Given the description of an element on the screen output the (x, y) to click on. 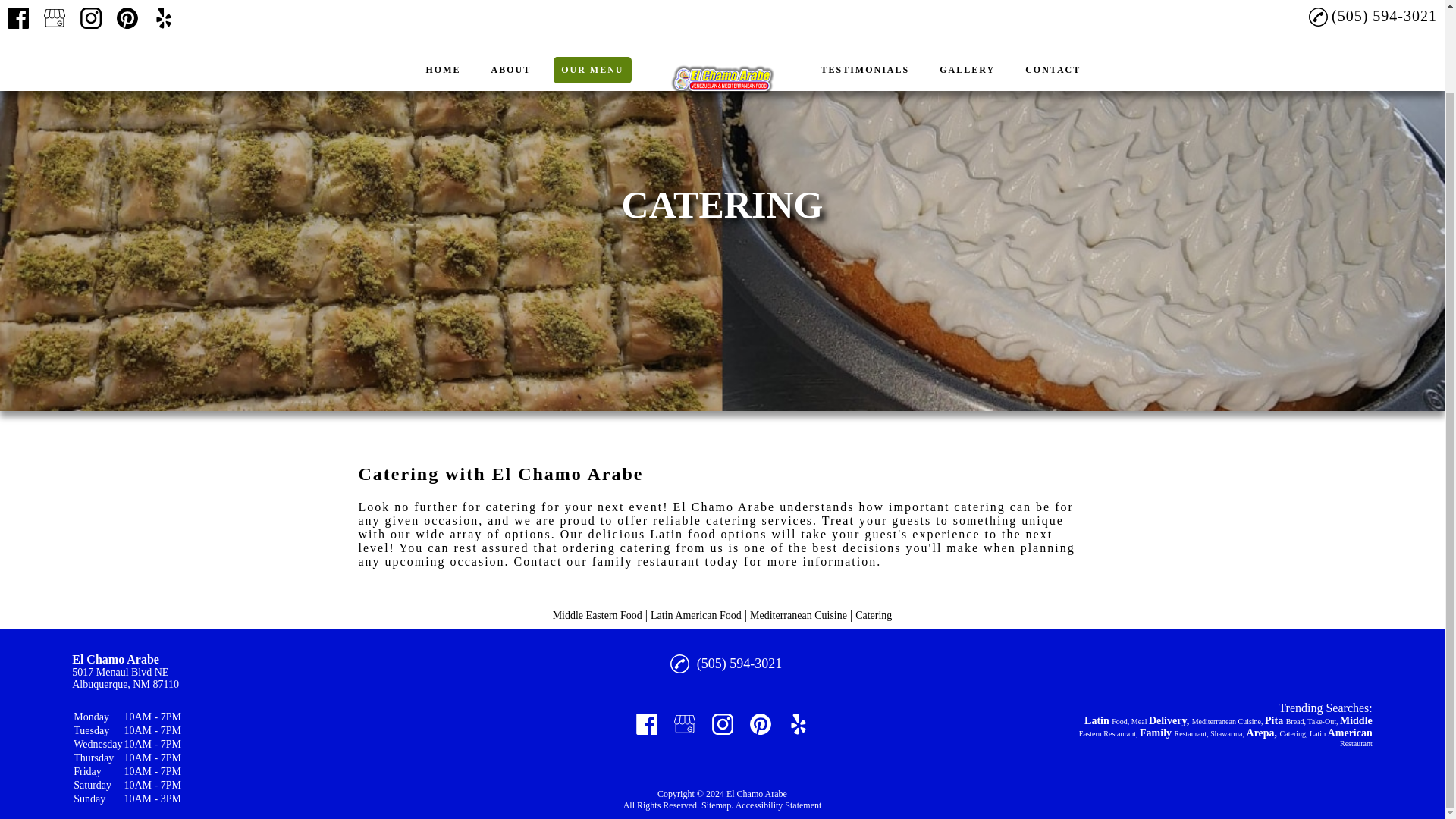
Catering (873, 614)
Phone (679, 663)
Mediterranean Cuisine (798, 614)
Phone (679, 663)
Latin American Food (695, 614)
Sitemap. (715, 805)
Accessibility Statement (778, 805)
Middle Eastern Food (597, 614)
